Given the description of an element on the screen output the (x, y) to click on. 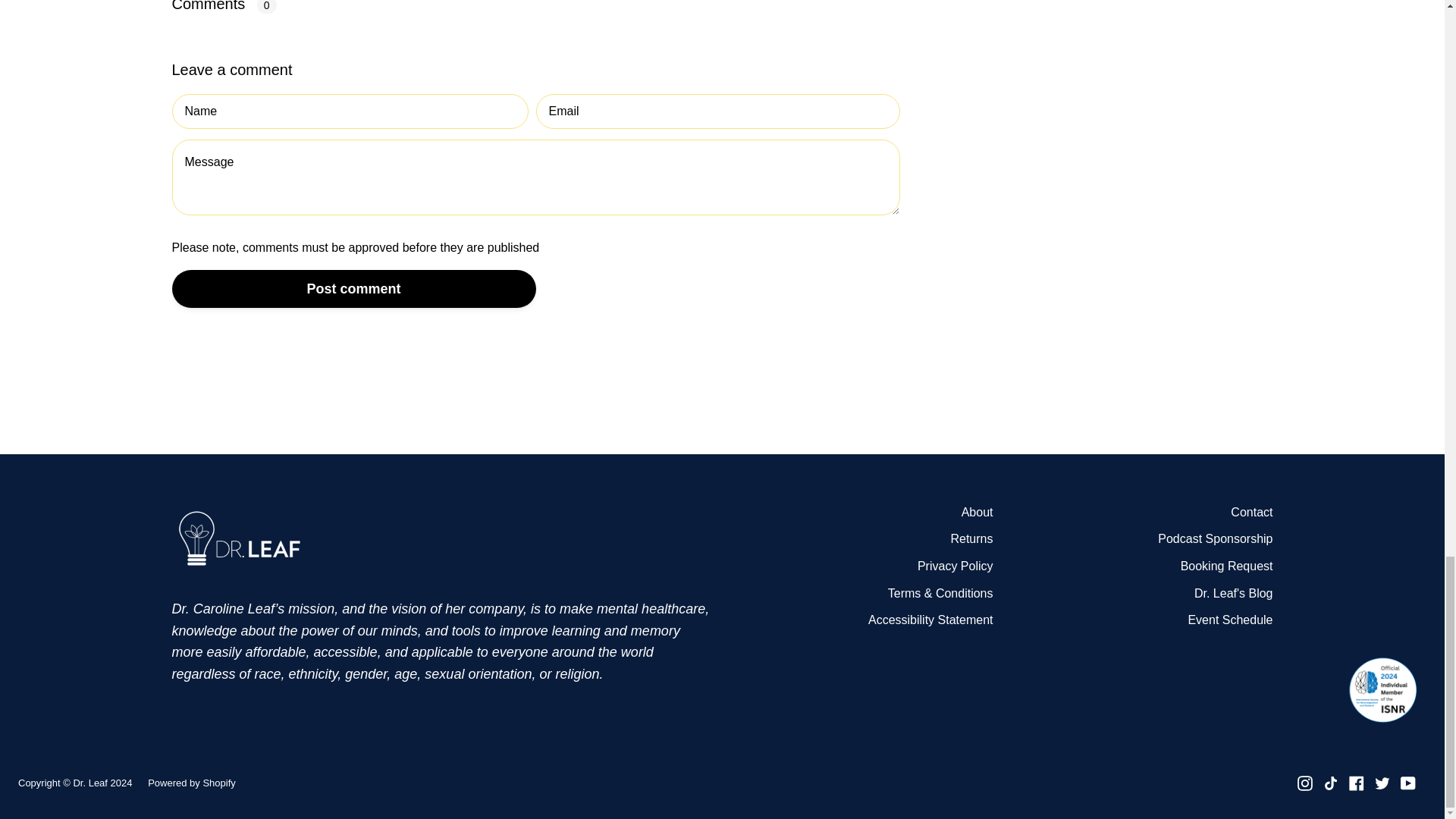
Post comment (353, 288)
Dr. Leaf on Instagram (1305, 783)
Dr. Leaf on Twitter (1382, 783)
Dr. Leaf on TikTok (1330, 783)
Dr. Leaf on YouTube (1407, 783)
Dr. Leaf on Facebook (1356, 783)
